Given the description of an element on the screen output the (x, y) to click on. 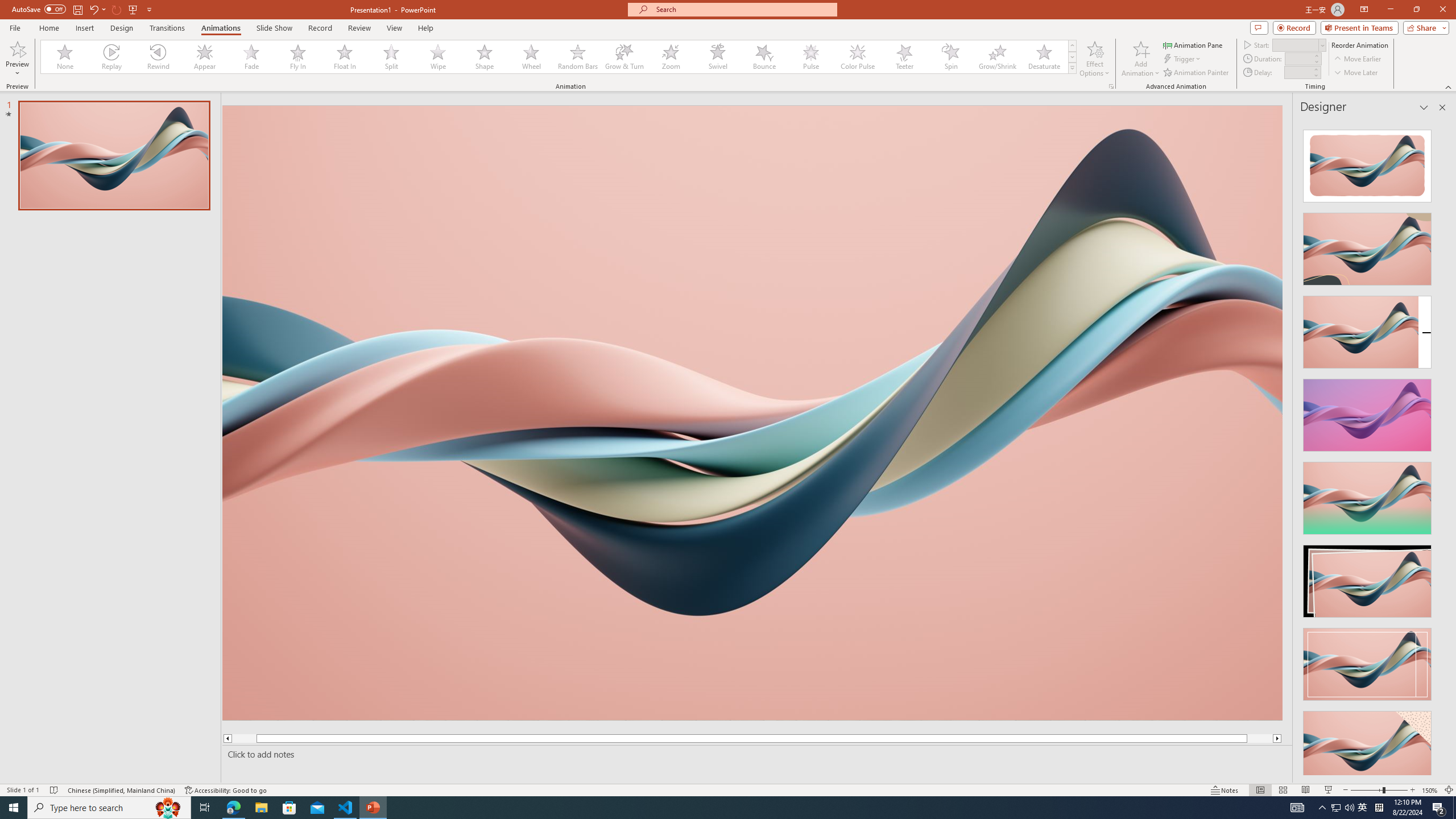
Wheel (531, 56)
Wavy 3D art (752, 412)
Replay (111, 56)
